Given the description of an element on the screen output the (x, y) to click on. 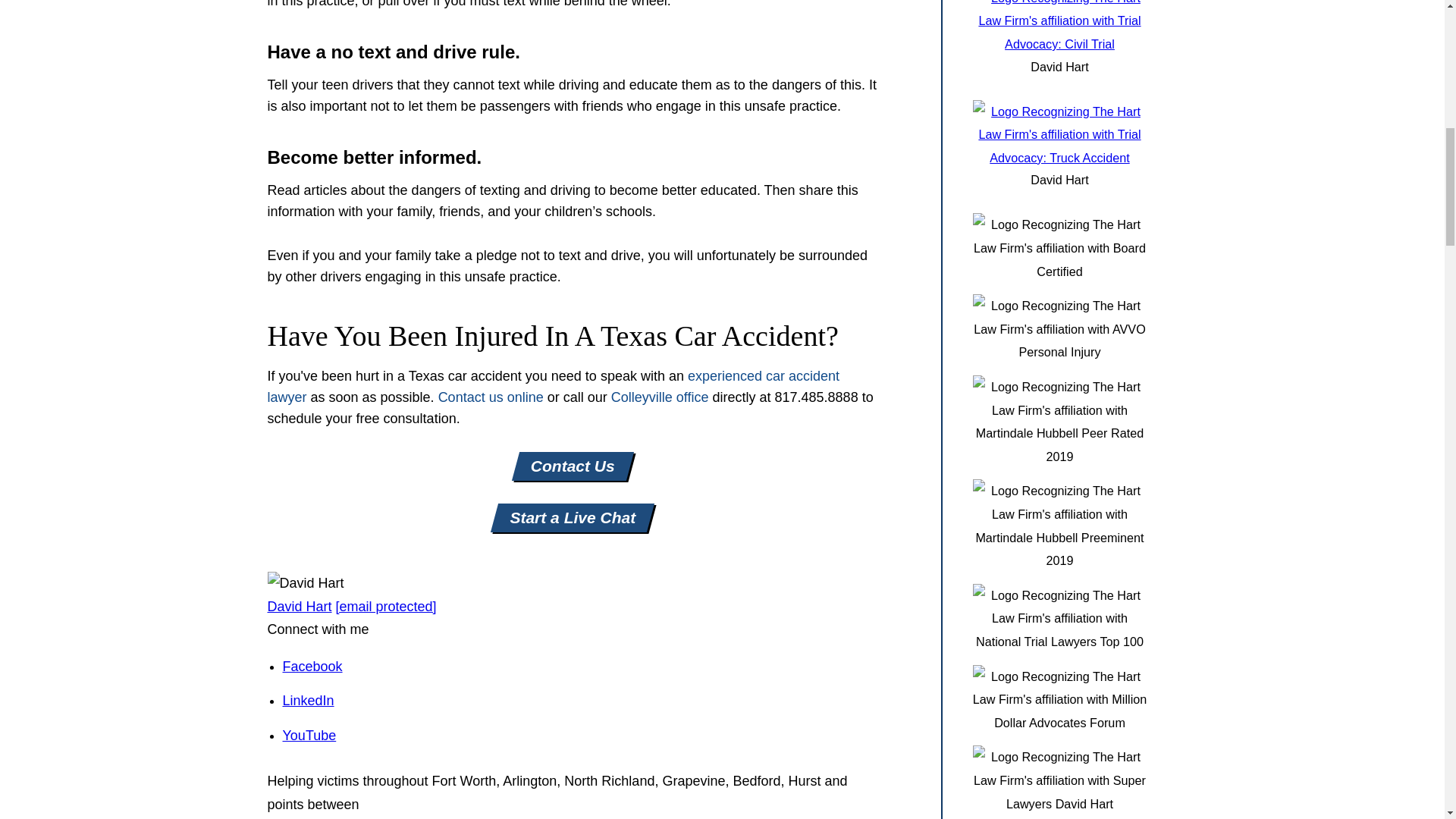
Watch me on YouTube (309, 735)
National Association of Trial Advocacy Web Site (1059, 43)
Connect with me on LinkedIn (307, 700)
National Association of Trial Advocacy Web Site (1059, 157)
Find me on Facebook (312, 666)
